Given the description of an element on the screen output the (x, y) to click on. 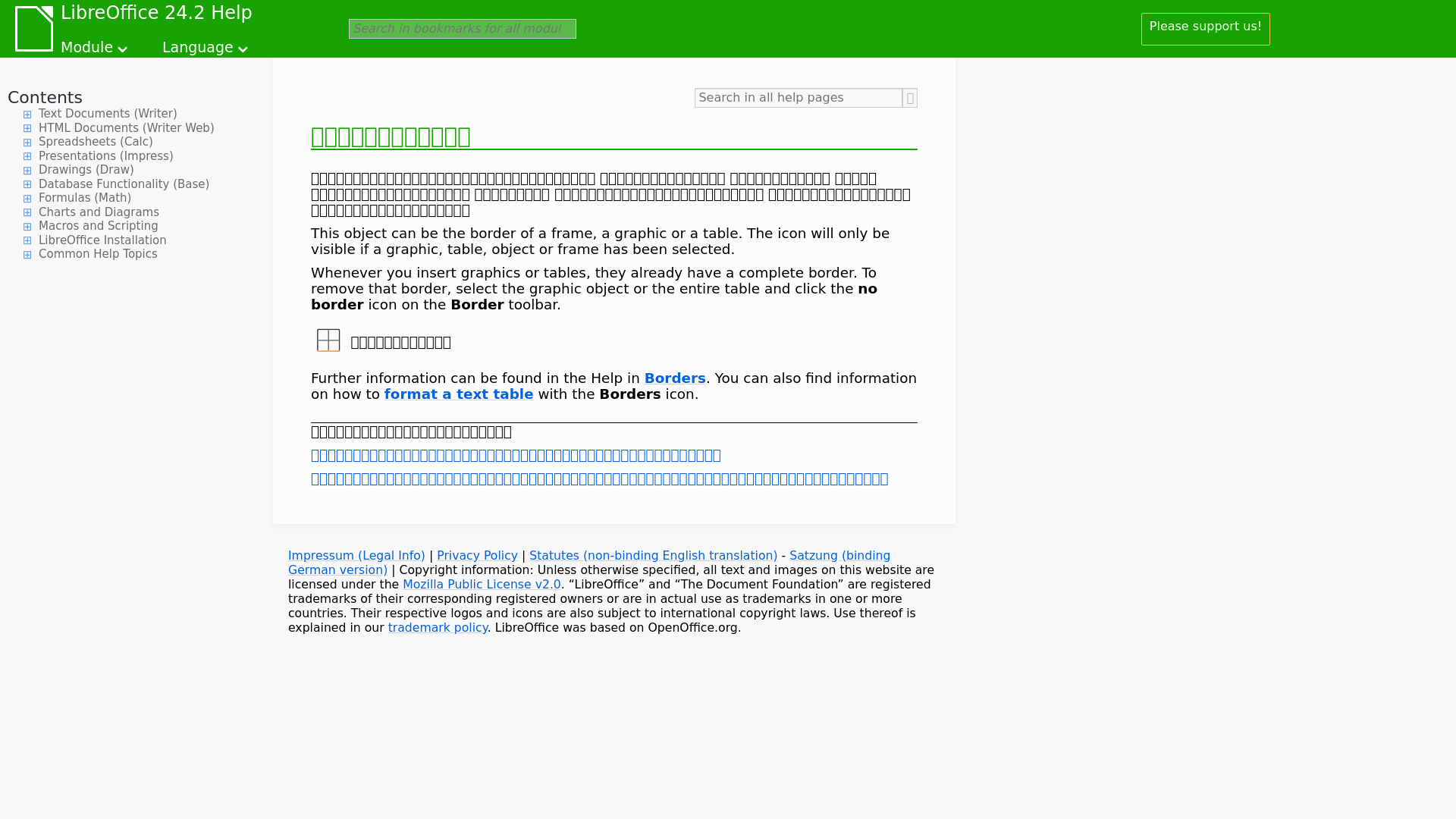
LibreOffice 24.2 Help (156, 15)
Module (96, 44)
Language (206, 44)
